Given the description of an element on the screen output the (x, y) to click on. 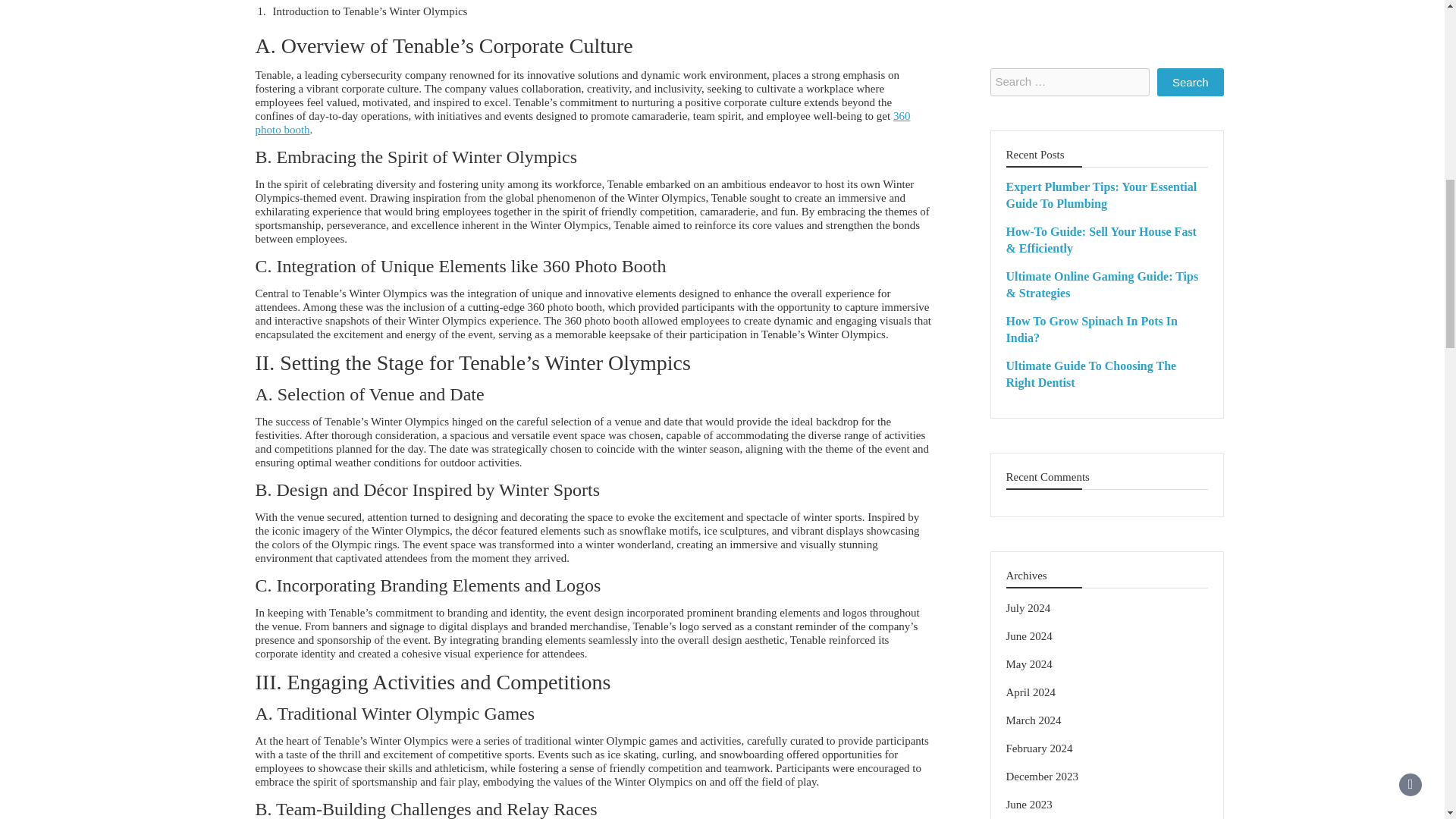
360 photo booth (582, 122)
